Given the description of an element on the screen output the (x, y) to click on. 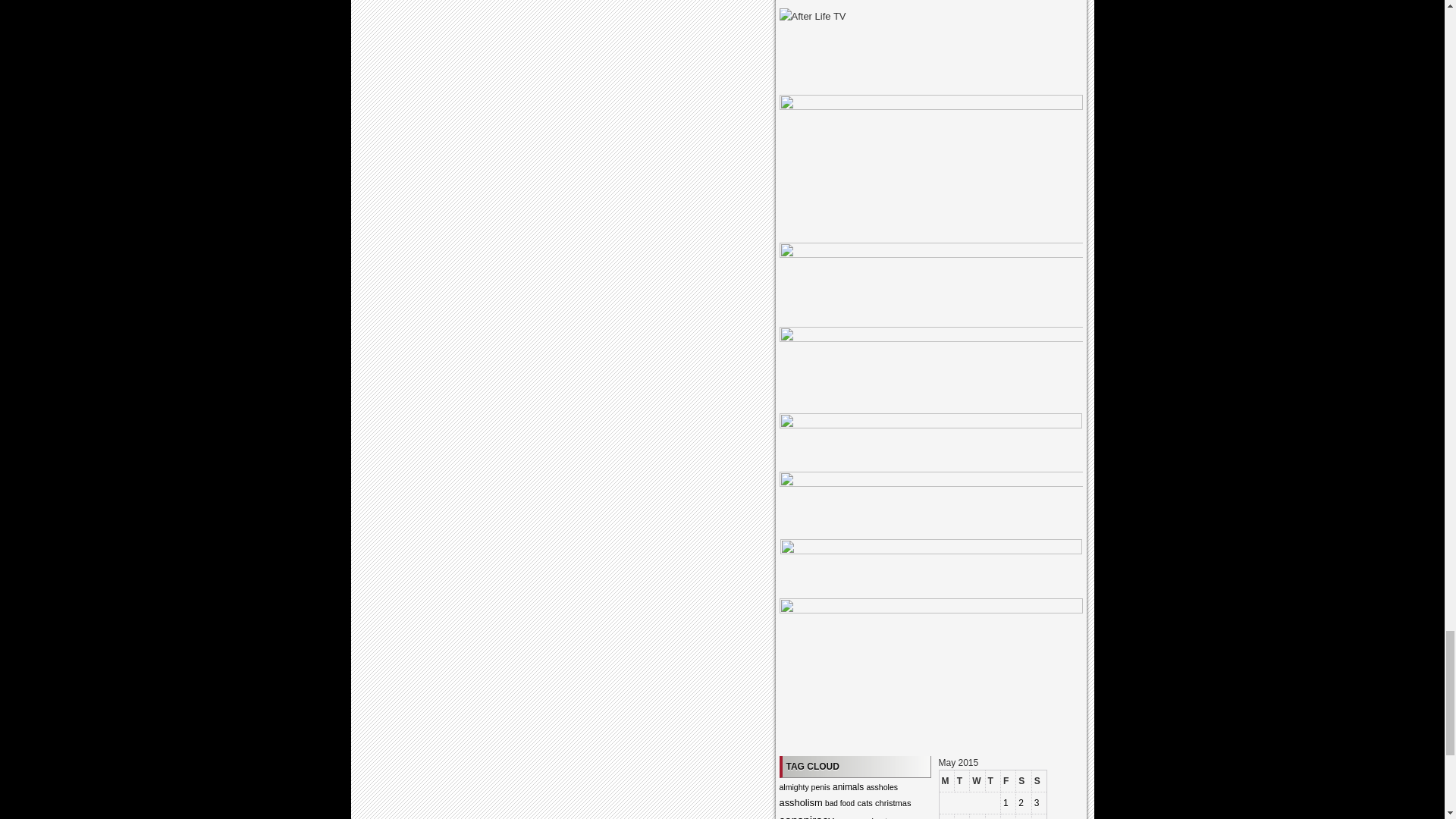
assholes (882, 786)
139 topics (839, 803)
191 topics (844, 817)
almighty penis (803, 786)
bad food (839, 803)
525 topics (806, 816)
355 topics (800, 802)
175 topics (803, 786)
282 topics (847, 787)
assholism (800, 802)
